Given the description of an element on the screen output the (x, y) to click on. 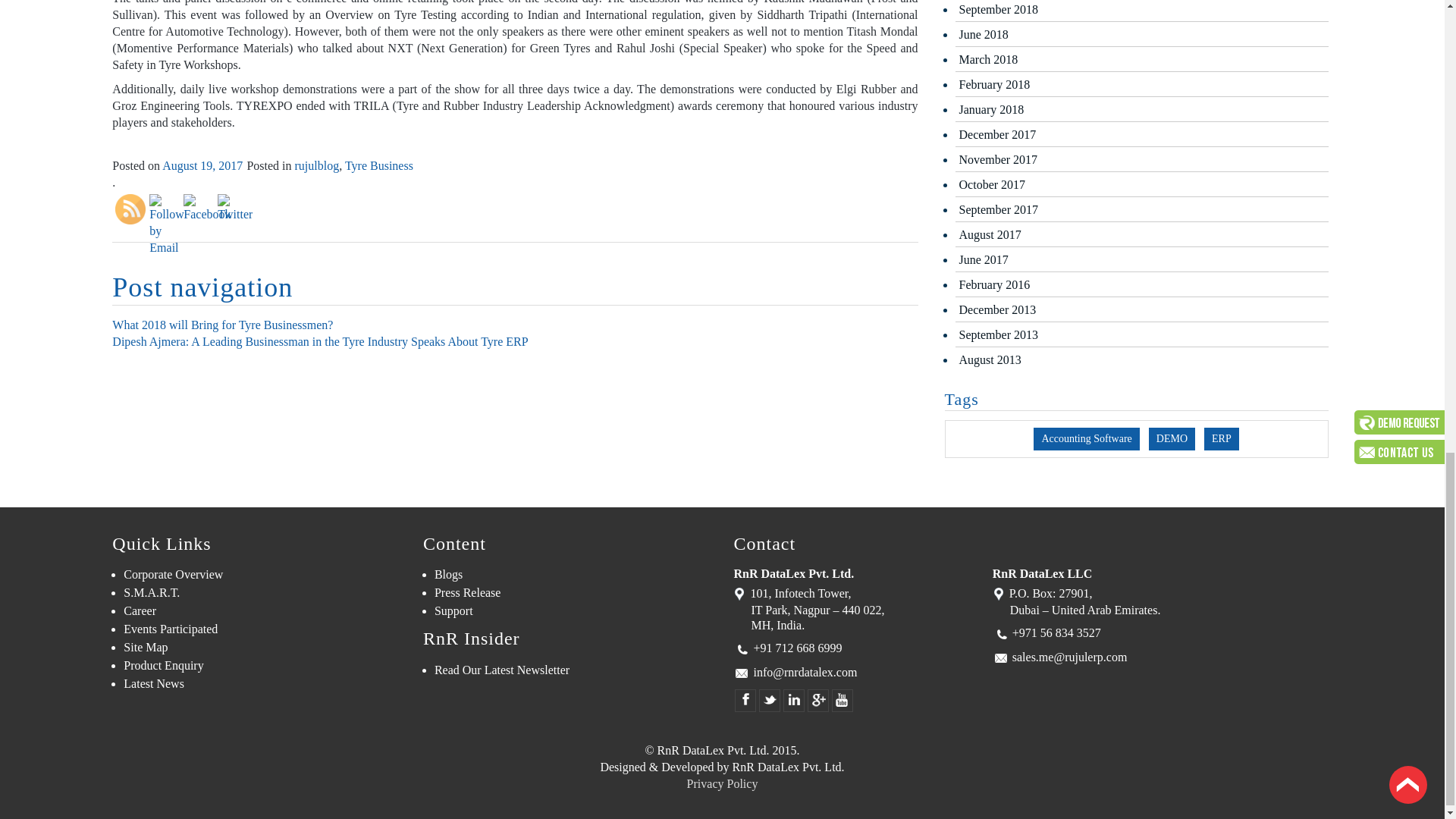
Twitter (233, 208)
RSS (130, 209)
Facebook (206, 208)
